Given the description of an element on the screen output the (x, y) to click on. 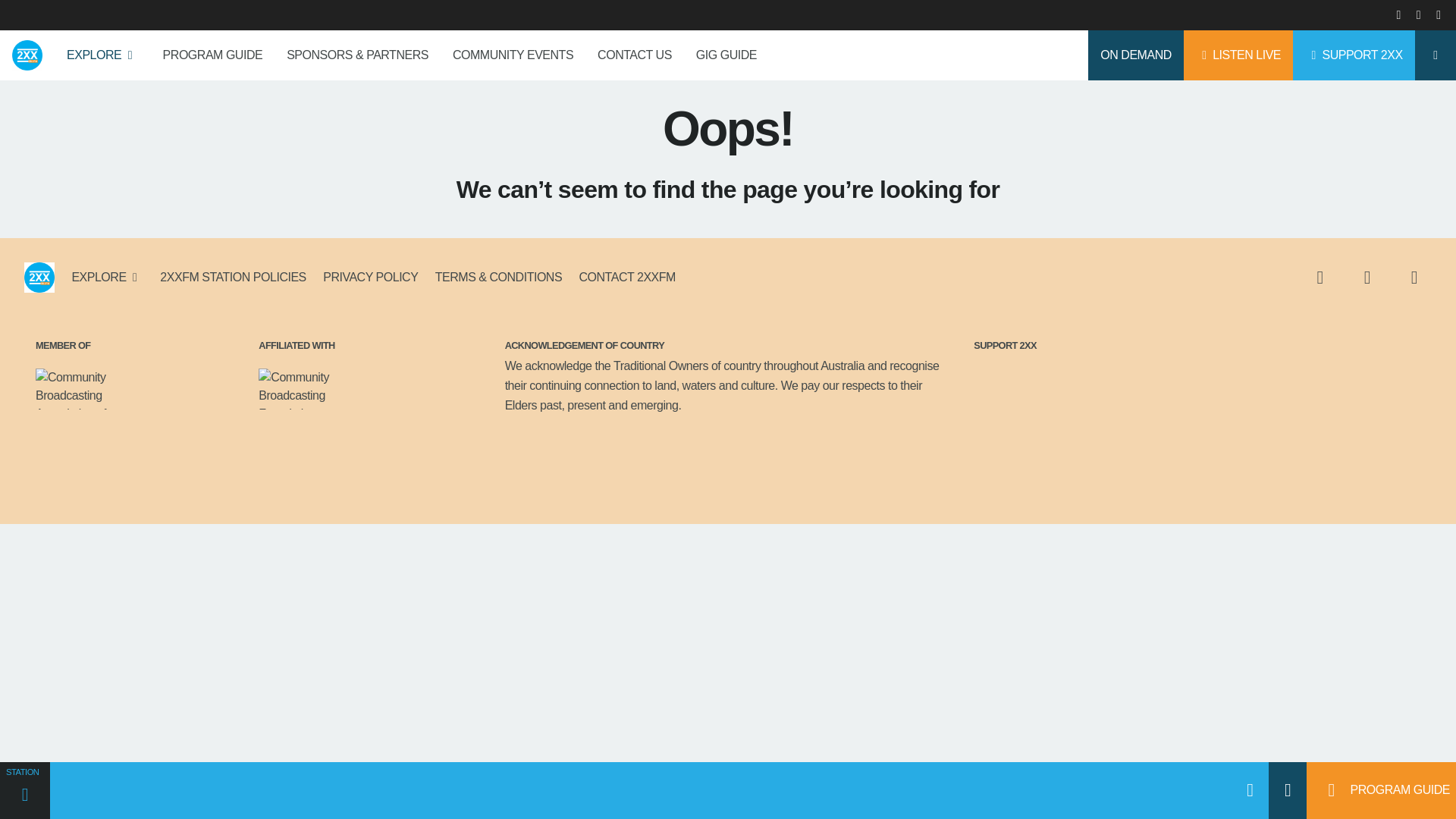
EXPLORE (103, 55)
PROGRAM GUIDE (213, 55)
COMMUNITY EVENTS (513, 55)
LISTEN LIVE (1237, 55)
GIG GUIDE (726, 55)
CONTACT US (634, 55)
ON DEMAND (1134, 55)
SUPPORT 2XX (1353, 55)
